Given the description of an element on the screen output the (x, y) to click on. 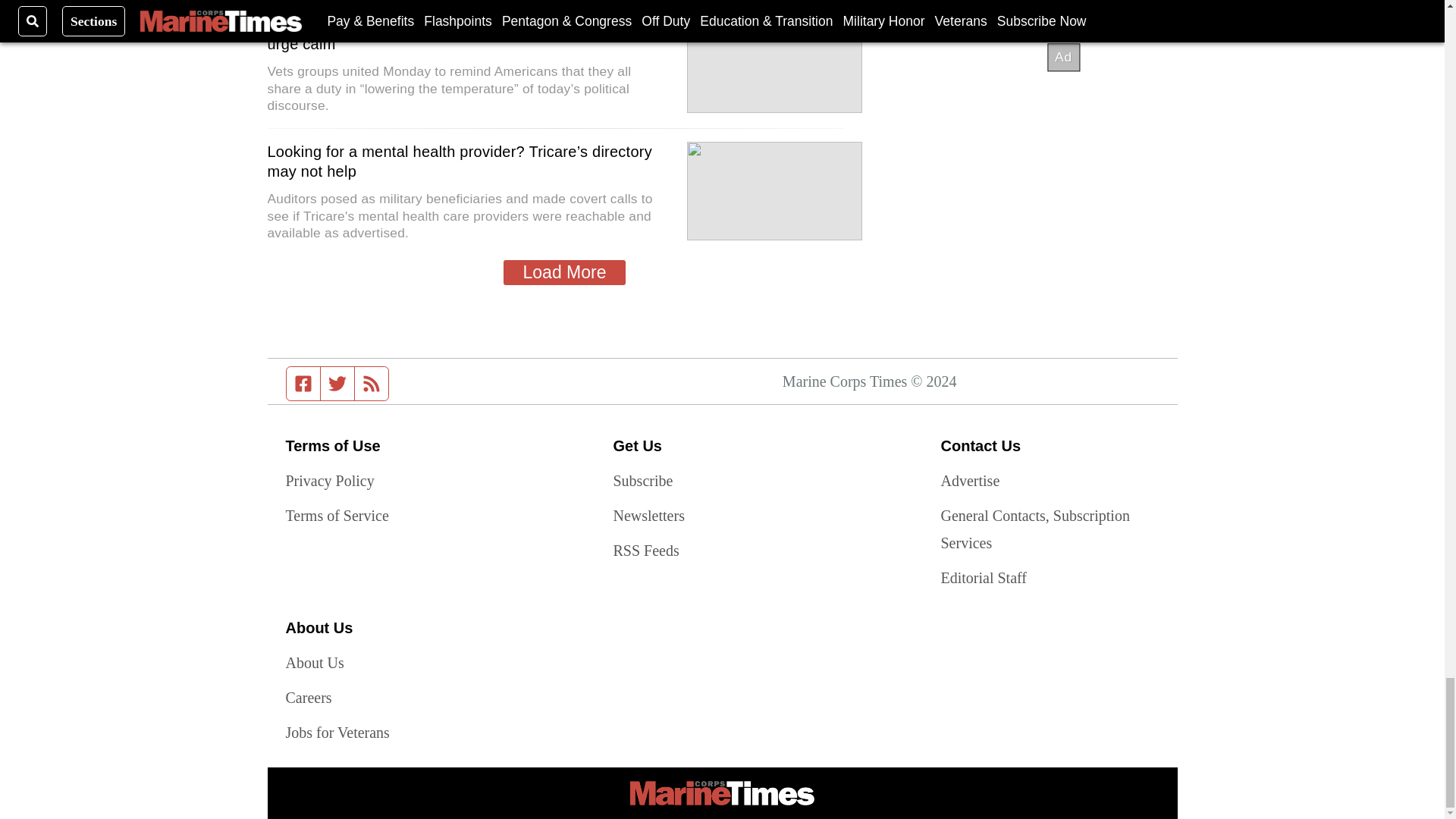
Twitter feed (336, 383)
Facebook page (303, 383)
RSS feed (371, 383)
